Given the description of an element on the screen output the (x, y) to click on. 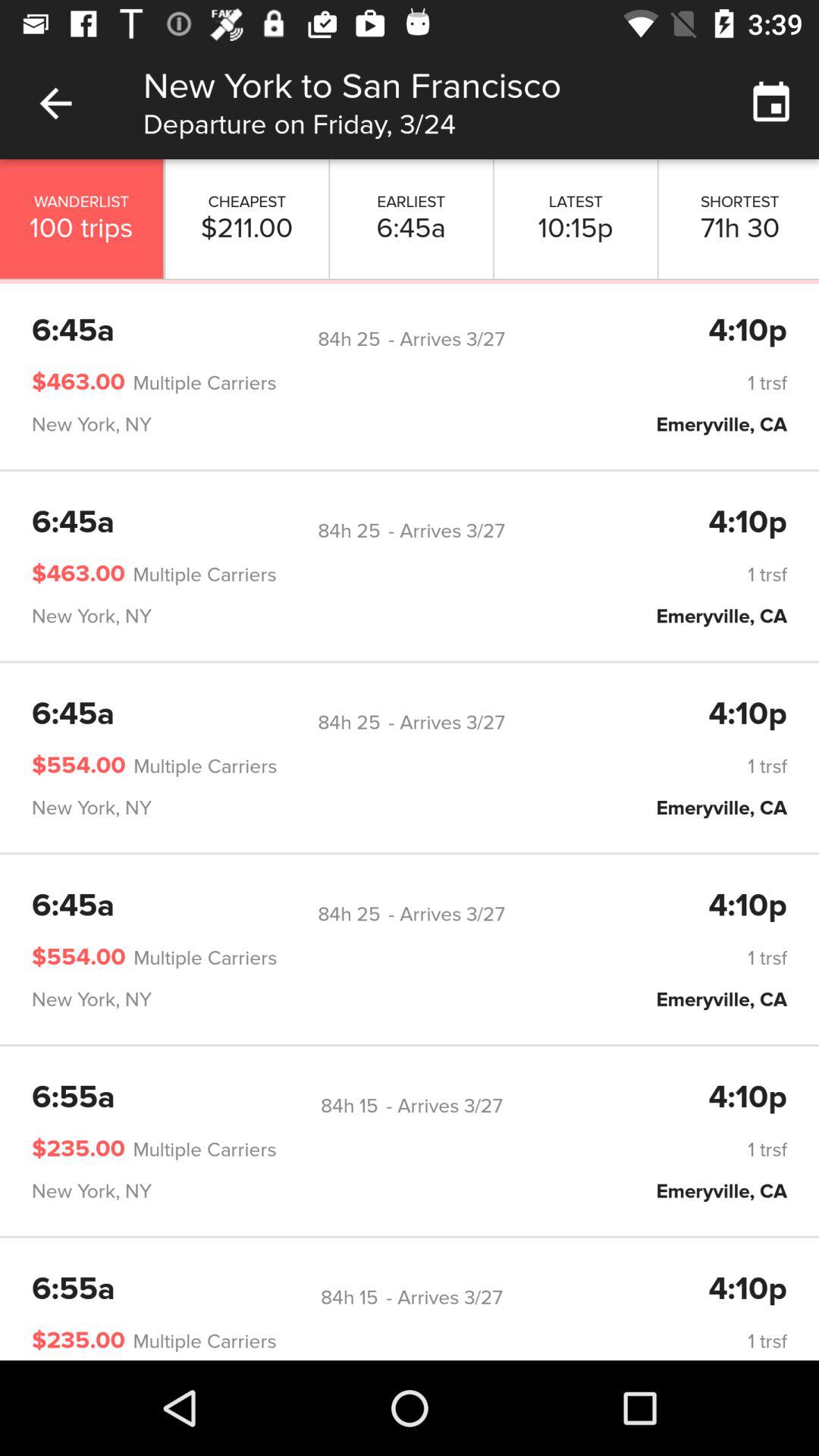
turn on item above shortest (771, 103)
